Given the description of an element on the screen output the (x, y) to click on. 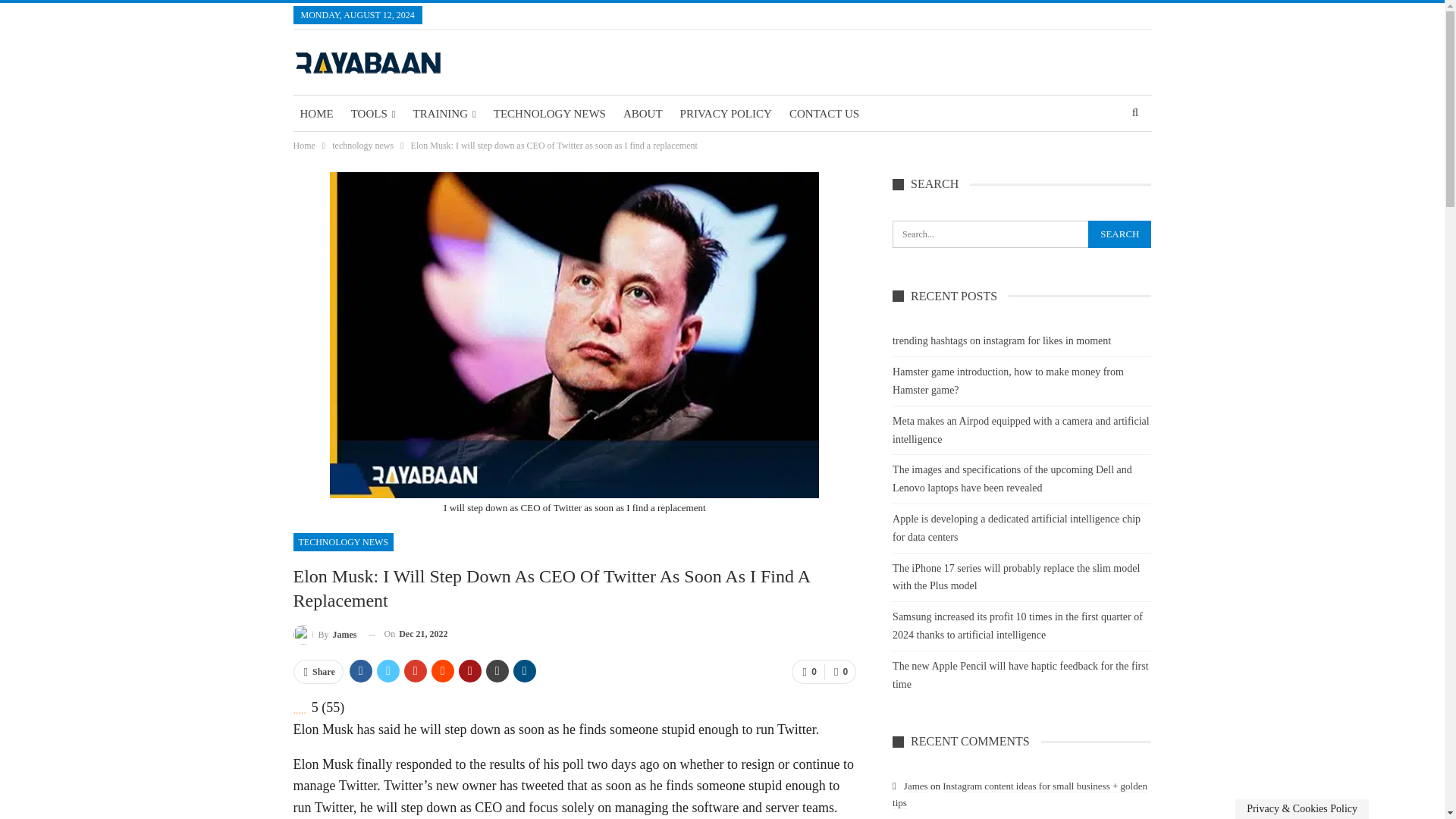
By James (324, 634)
Search (1119, 234)
HOME (315, 113)
Home (303, 145)
PRIVACY POLICY (725, 113)
TOOLS (373, 113)
TECHNOLOGY NEWS (342, 542)
0 (840, 671)
TECHNOLOGY NEWS (549, 113)
CONTACT US (824, 113)
